Given the description of an element on the screen output the (x, y) to click on. 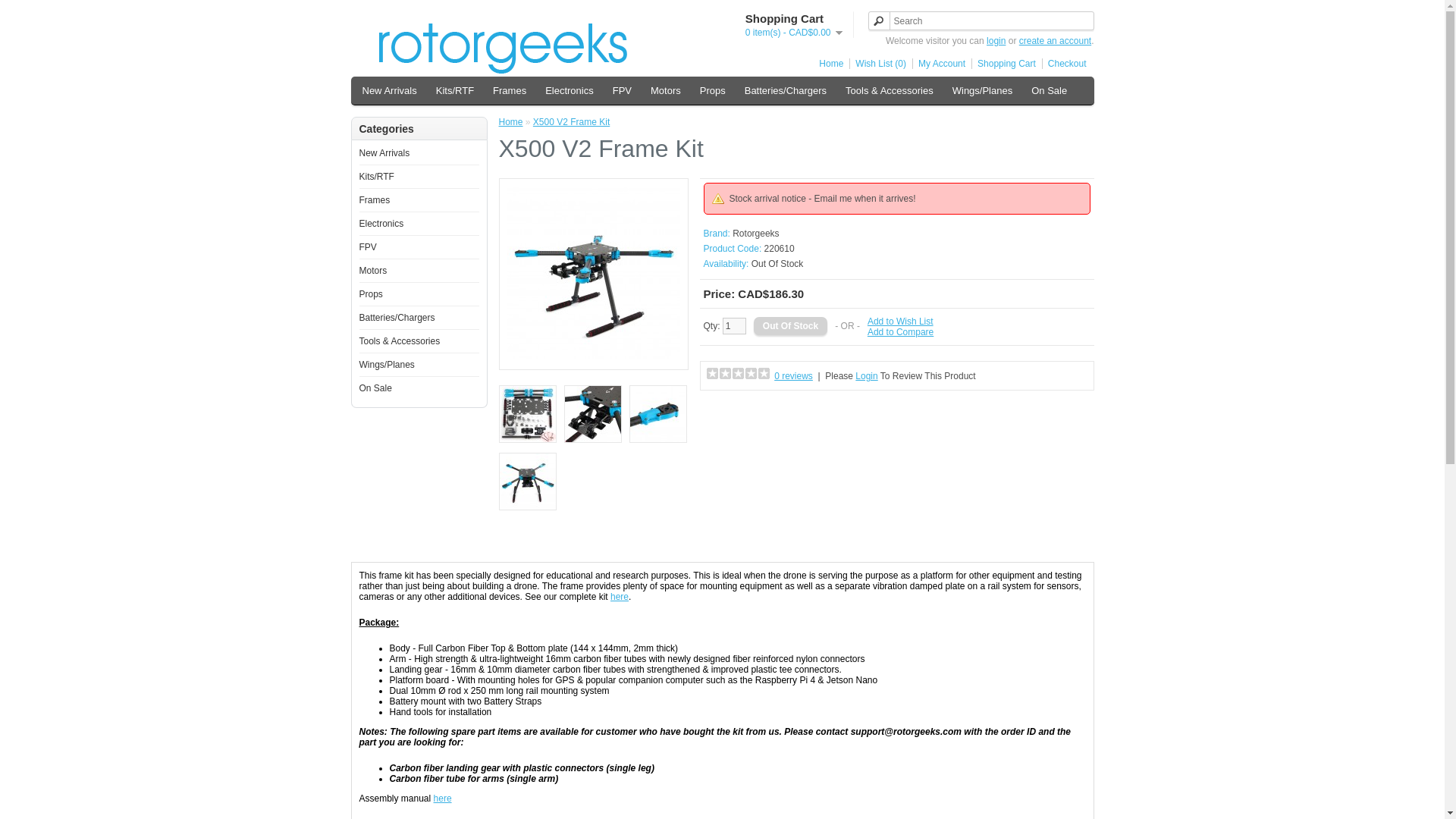
New Arrivals (390, 90)
X500 V2 Frame Kit (592, 414)
login (996, 40)
1 (733, 325)
X500 V2 Frame Kit (527, 414)
Checkout (1064, 63)
X500 V2 Frame Kit (527, 482)
create an account (1054, 40)
X500 V2 Frame Kit (657, 414)
X500 V2 Frame Kit (592, 272)
Frames (509, 90)
X500 V2 Frame Kit (527, 481)
X500 V2 Frame Kit (592, 413)
Rotorgeeks (502, 45)
Home (828, 63)
